Given the description of an element on the screen output the (x, y) to click on. 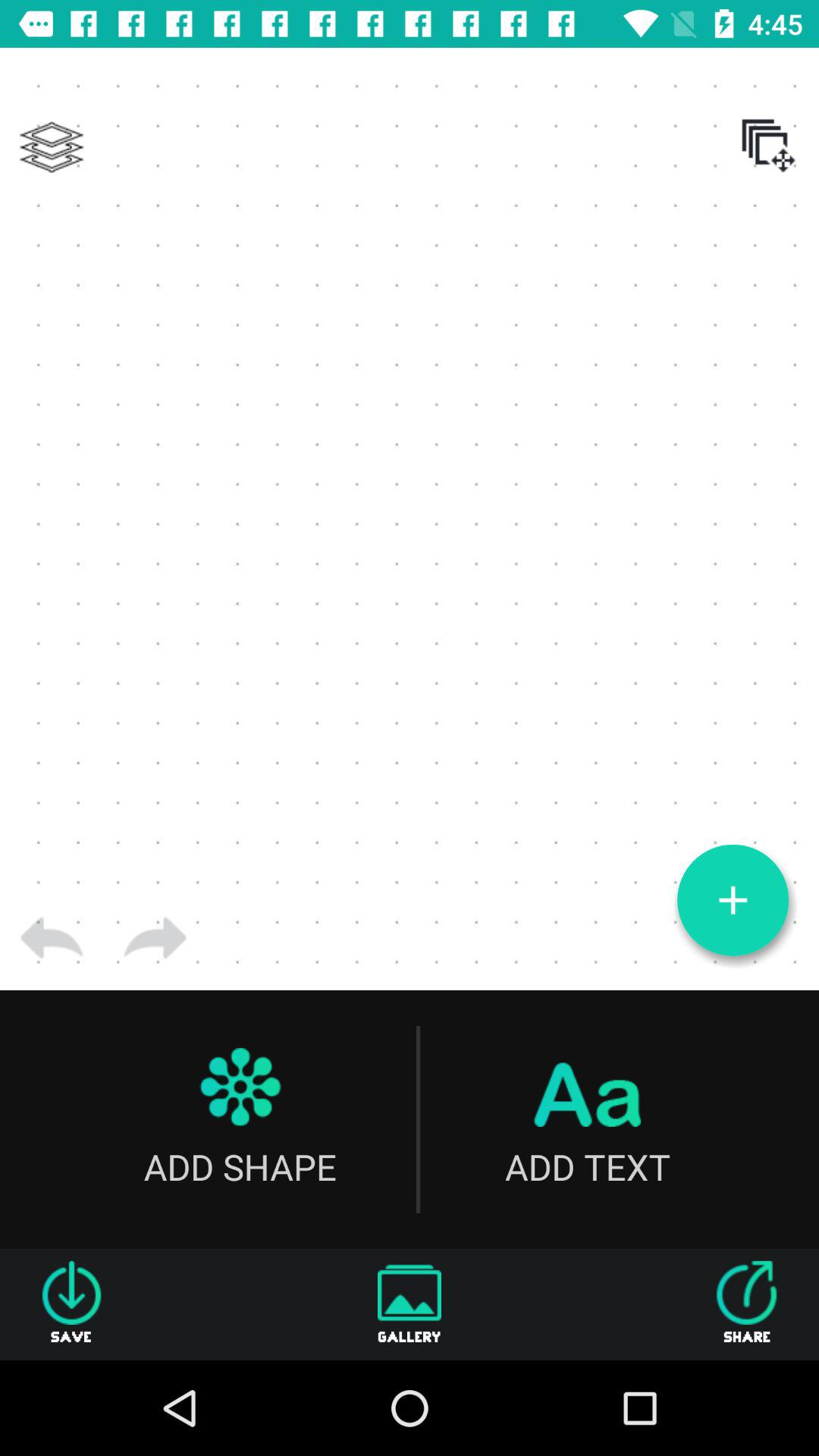
open the icon to the right of the gallery item (747, 1304)
